Given the description of an element on the screen output the (x, y) to click on. 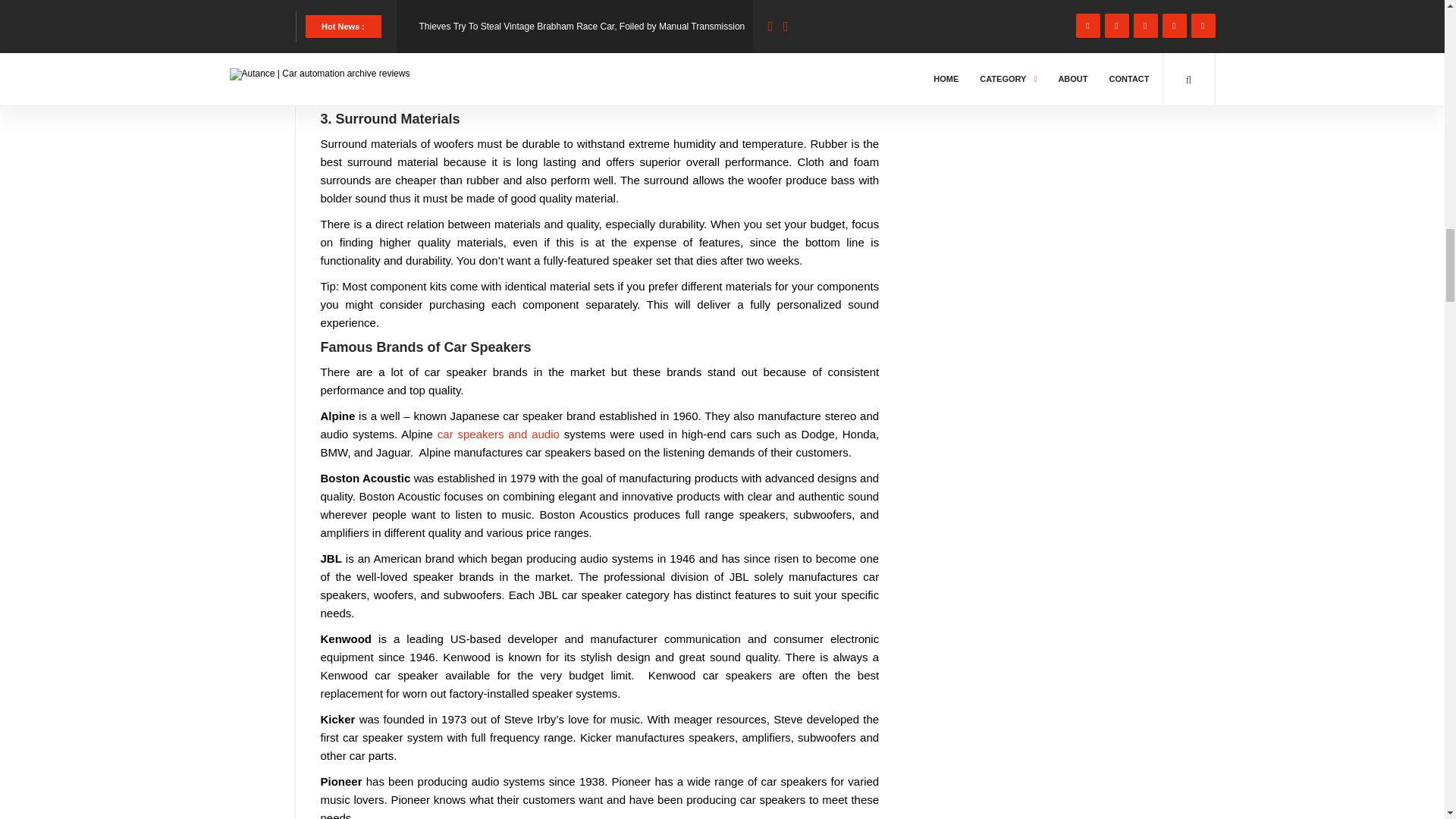
car speakers and audio (498, 433)
